Given the description of an element on the screen output the (x, y) to click on. 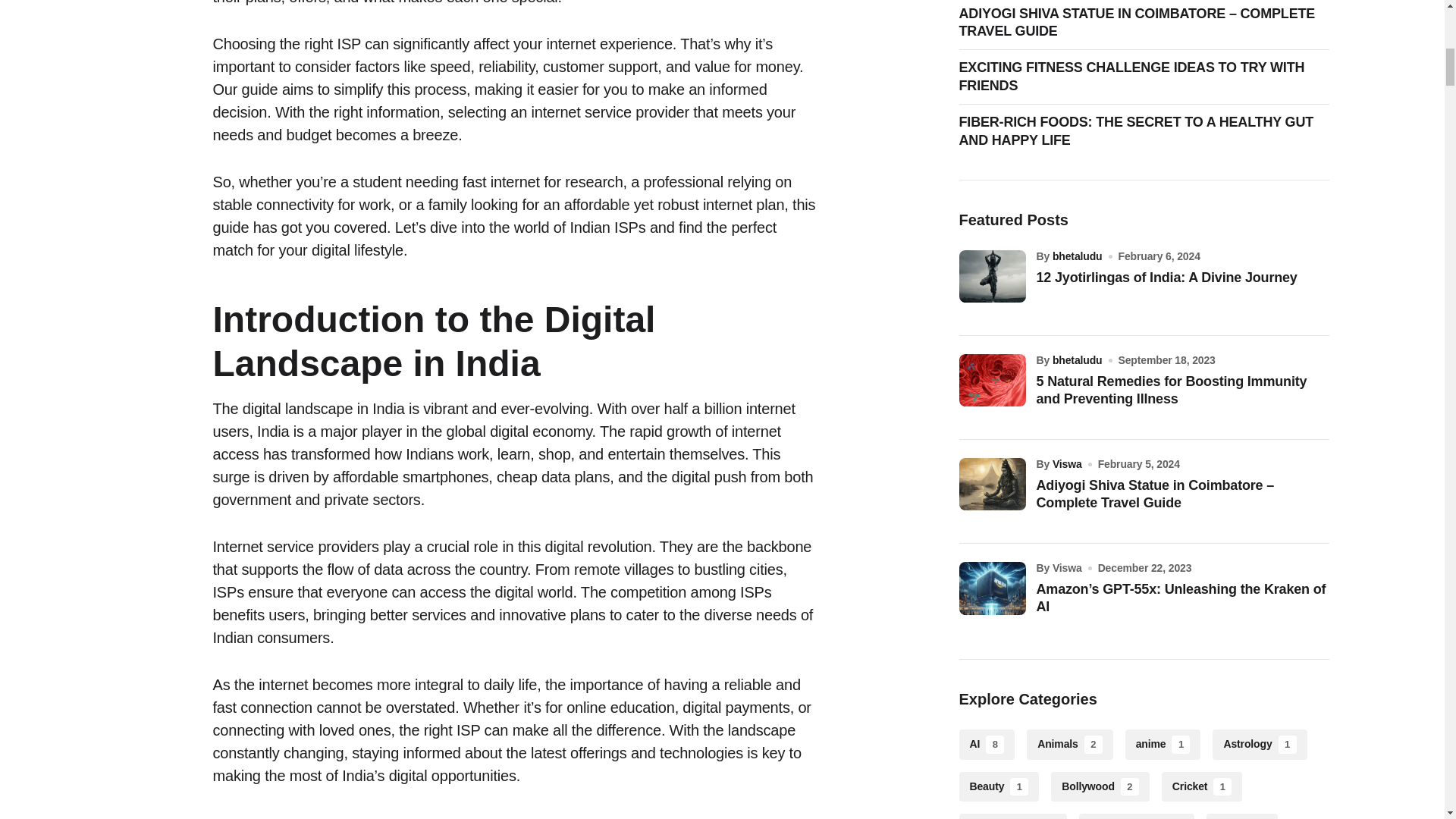
Amazon's GPT-55x (991, 588)
Adiyogi Shiva (991, 483)
12 Jyotirlingas of India (991, 276)
